Given the description of an element on the screen output the (x, y) to click on. 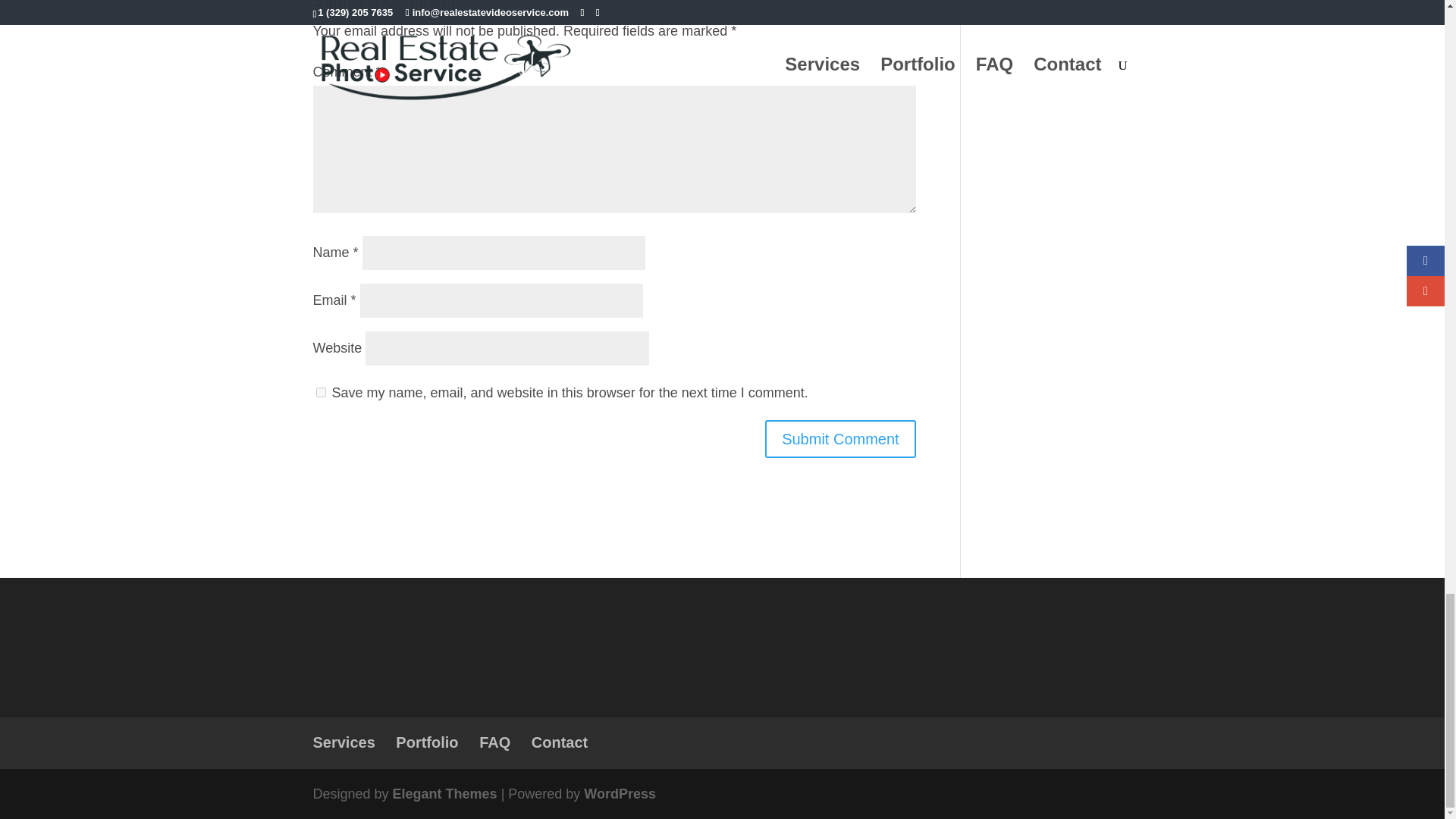
Portfolio (427, 742)
WordPress (619, 793)
FAQ (495, 742)
Submit Comment (840, 438)
Submit Comment (840, 438)
Elegant Themes (445, 793)
Services (343, 742)
yes (319, 392)
Premium WordPress Themes (445, 793)
Contact (559, 742)
